Given the description of an element on the screen output the (x, y) to click on. 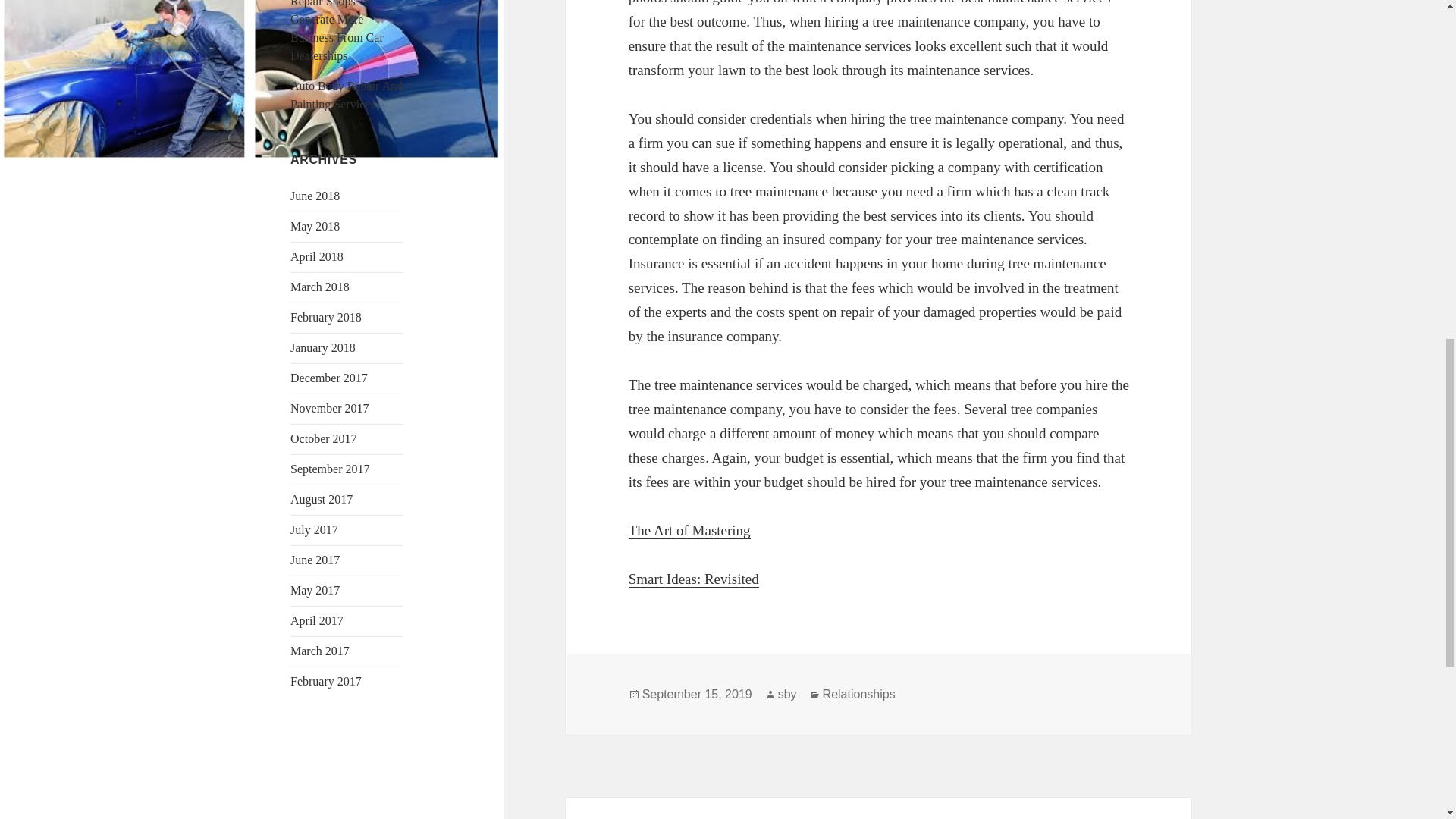
Smart Ideas: Revisited (693, 579)
January 2018 (322, 347)
June 2017 (314, 559)
March 2018 (319, 286)
February 2018 (325, 317)
March 2017 (319, 650)
February 2017 (325, 680)
November 2017 (329, 408)
December 2017 (328, 377)
